Given the description of an element on the screen output the (x, y) to click on. 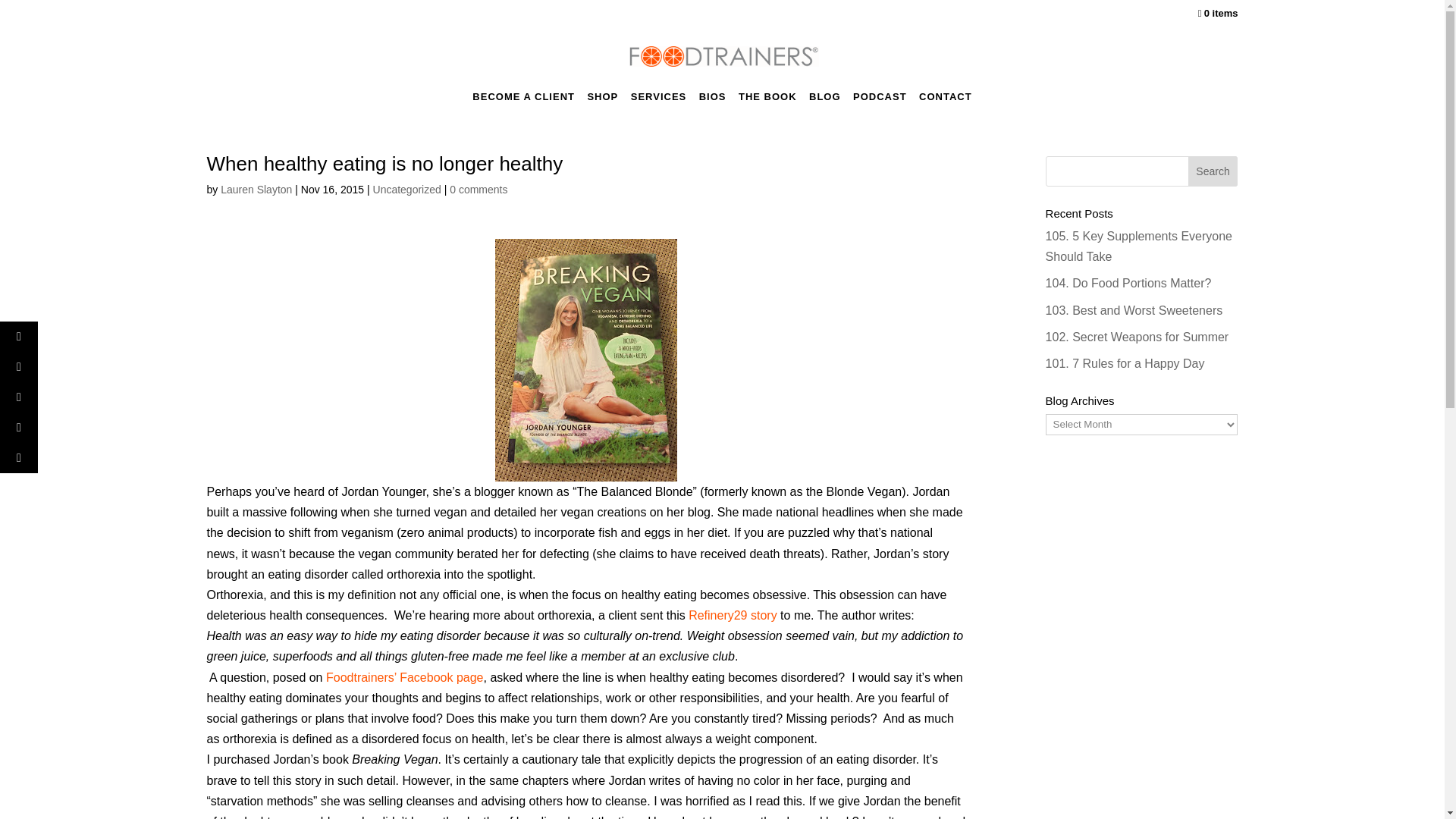
103. Best and Worst Sweeteners (1134, 309)
PODCAST (880, 101)
105. 5 Key Supplements Everyone Should Take (1138, 246)
101. 7 Rules for a Happy Day (1125, 363)
SERVICES (658, 101)
BLOG (825, 101)
Search (1213, 171)
CONTACT (945, 101)
SHOP (601, 101)
Lauren Slayton (256, 189)
Start shopping (1218, 17)
0 items (1218, 17)
Refinery29 story (732, 615)
104. Do Food Portions Matter? (1128, 282)
THE BOOK (767, 101)
